Given the description of an element on the screen output the (x, y) to click on. 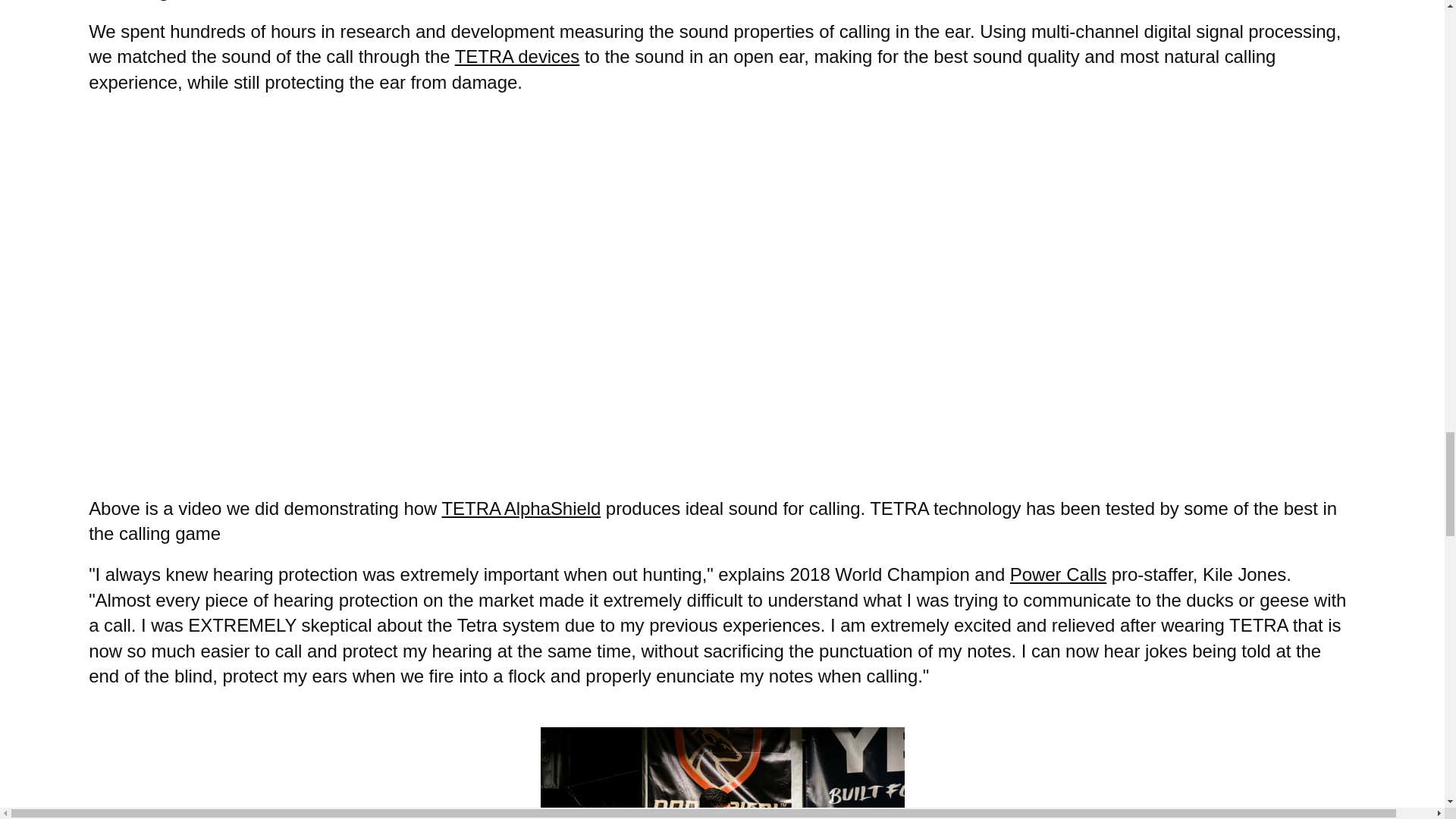
Power Calls Duck and Goose Calls (1058, 574)
